Given the description of an element on the screen output the (x, y) to click on. 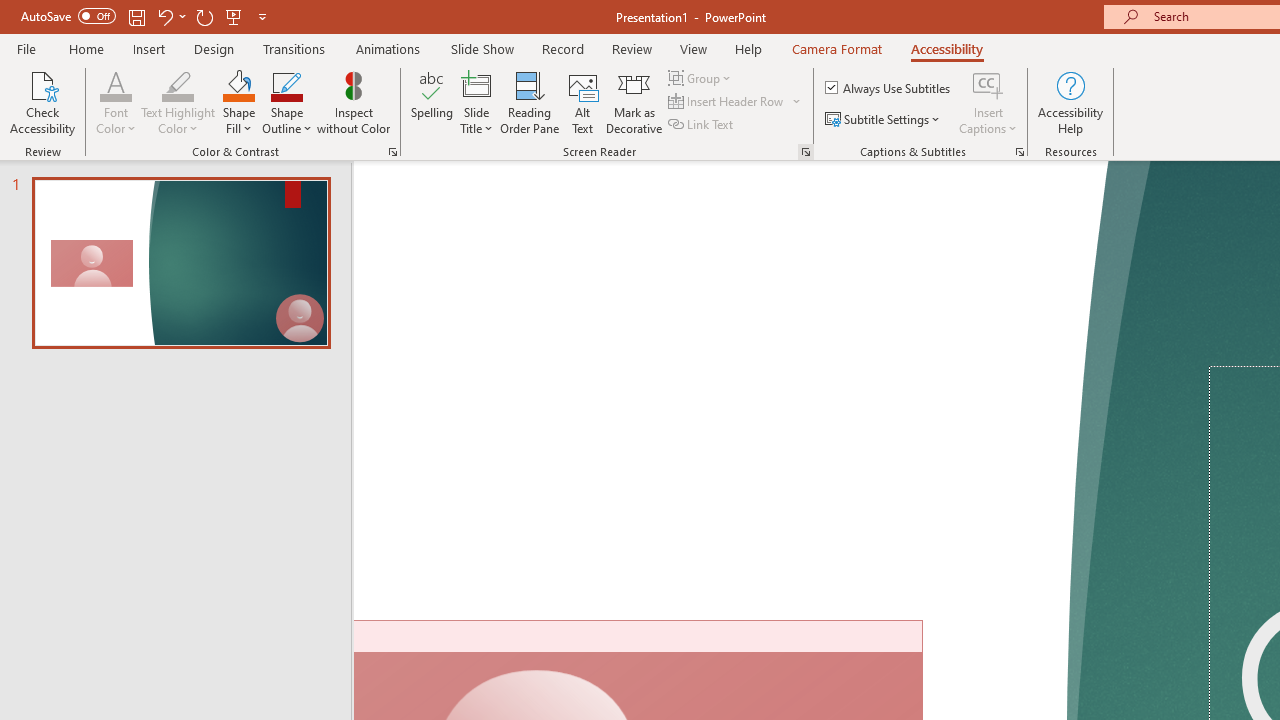
Reading Order Pane (529, 102)
Insert Header Row (735, 101)
Insert Captions (988, 84)
Link Text (702, 124)
